Given the description of an element on the screen output the (x, y) to click on. 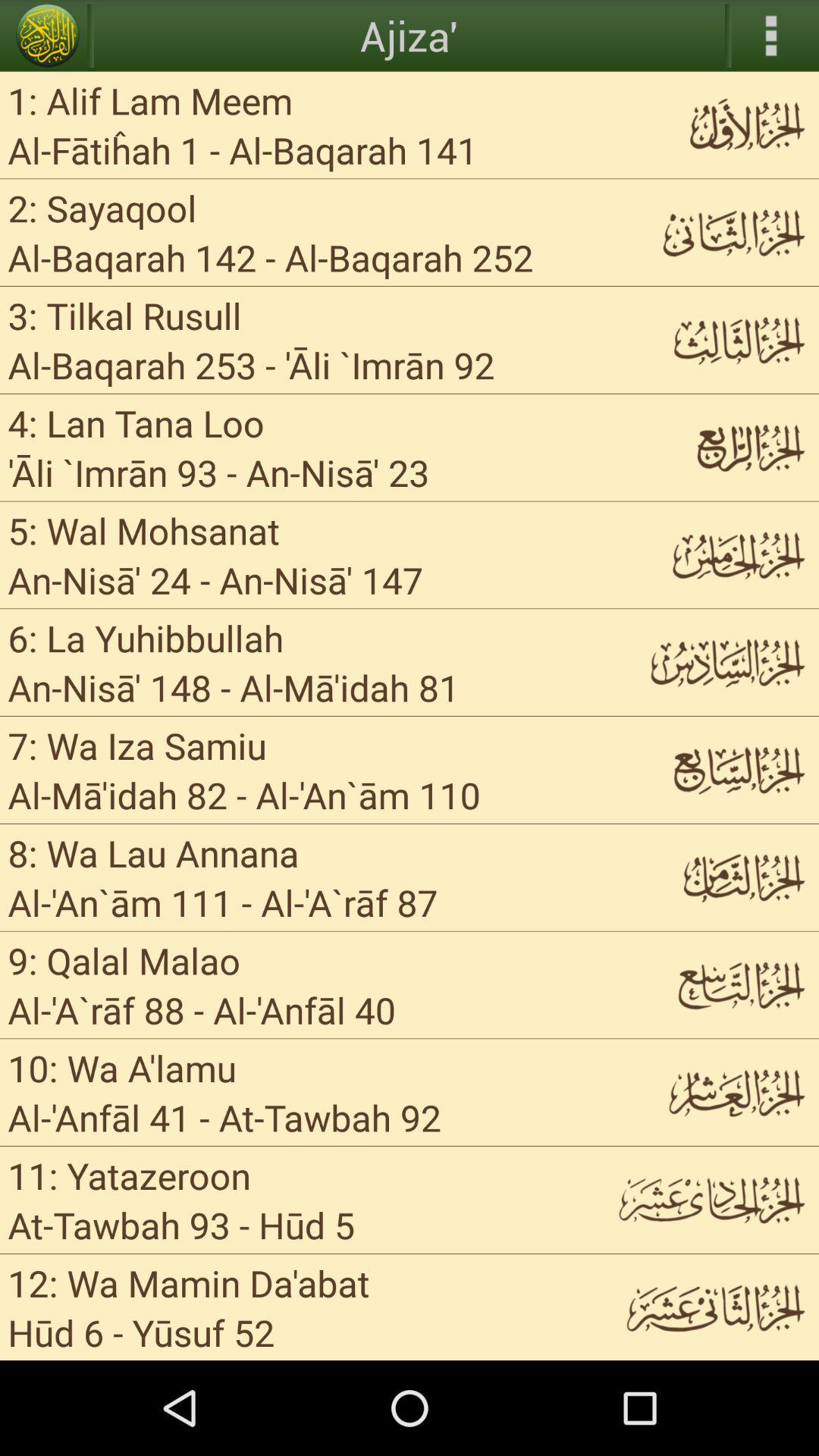
tap the 11: yatazeroon item (128, 1175)
